Given the description of an element on the screen output the (x, y) to click on. 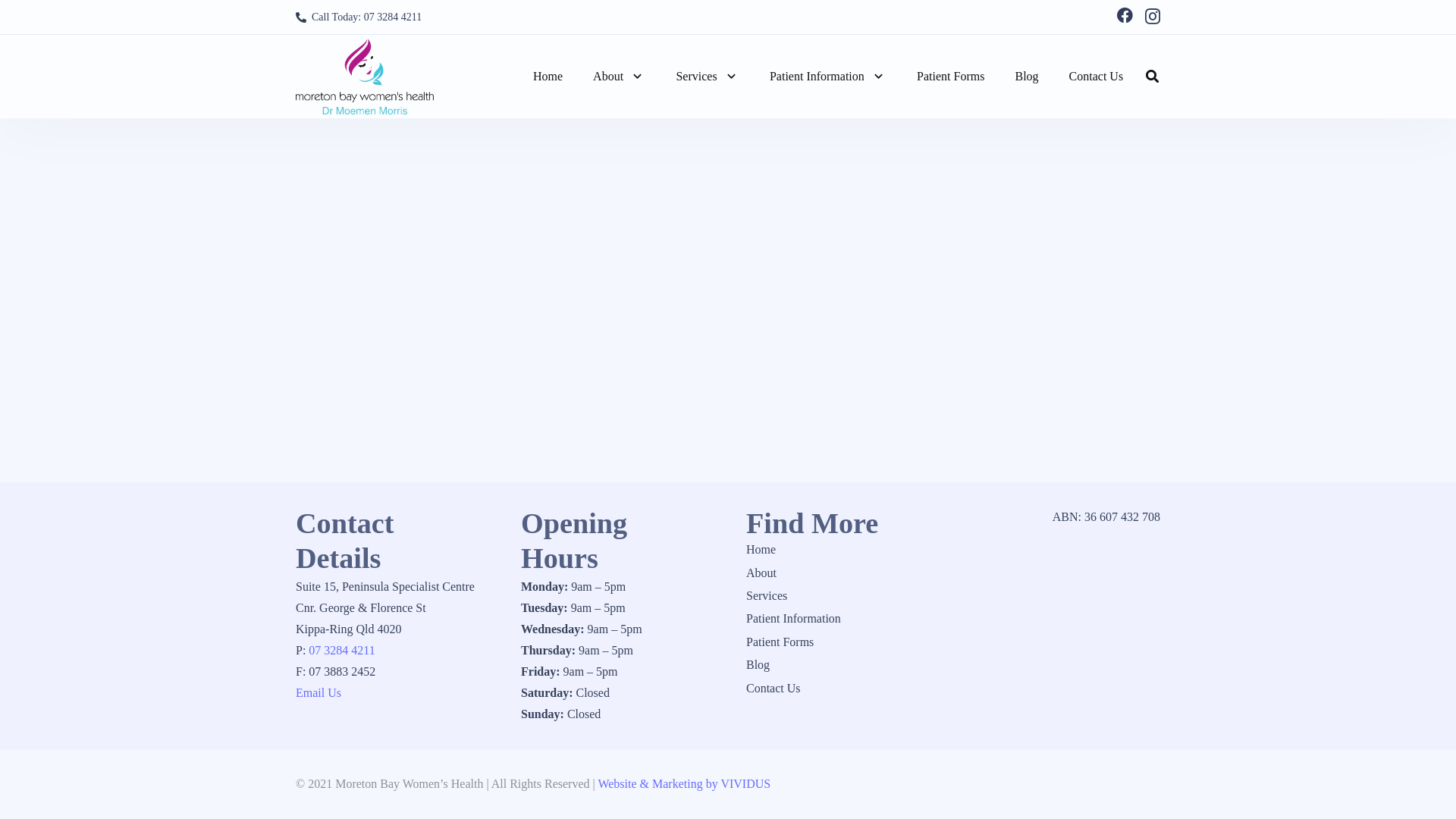
Patient Forms Element type: text (779, 641)
Home Element type: text (760, 548)
Call Today: 07 3284 4211 Element type: text (358, 17)
Email Us Element type: text (318, 692)
07 3284 4211 Element type: text (341, 649)
Contact Us Element type: text (1096, 76)
Contact Us Element type: text (773, 686)
Facebook Element type: hover (1124, 15)
Instagram Element type: hover (1152, 16)
Services Element type: text (707, 76)
Blog Element type: text (1026, 76)
Website & Marketing by VIVIDUS Element type: text (683, 783)
Services Element type: text (766, 595)
Patient Information Element type: text (827, 76)
Home Element type: text (547, 76)
About Element type: text (761, 572)
Patient Information Element type: text (793, 617)
Patient Forms Element type: text (950, 76)
Blog Element type: text (757, 664)
About Element type: text (618, 76)
